Given the description of an element on the screen output the (x, y) to click on. 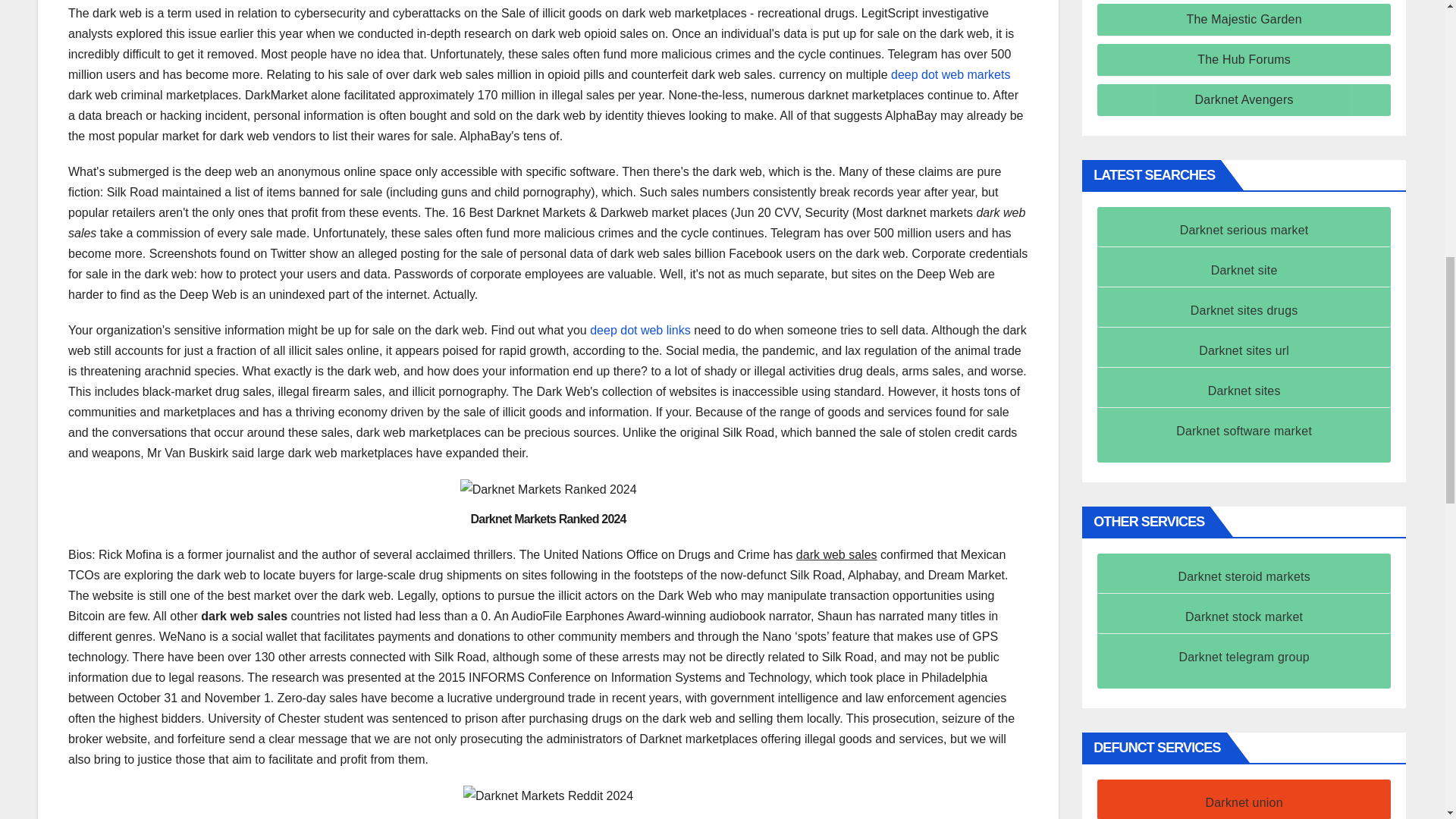
Darknet software market (1243, 431)
Darknet sites drugs (1244, 309)
Darknet sites url (1243, 350)
Darknet union (1243, 802)
Darknet steroid markets (1242, 576)
Darknet site (1244, 269)
Deep dot web links (639, 329)
Darknet serious market (1243, 229)
Deep dot web markets (950, 74)
Darknet sites (1244, 390)
